Given the description of an element on the screen output the (x, y) to click on. 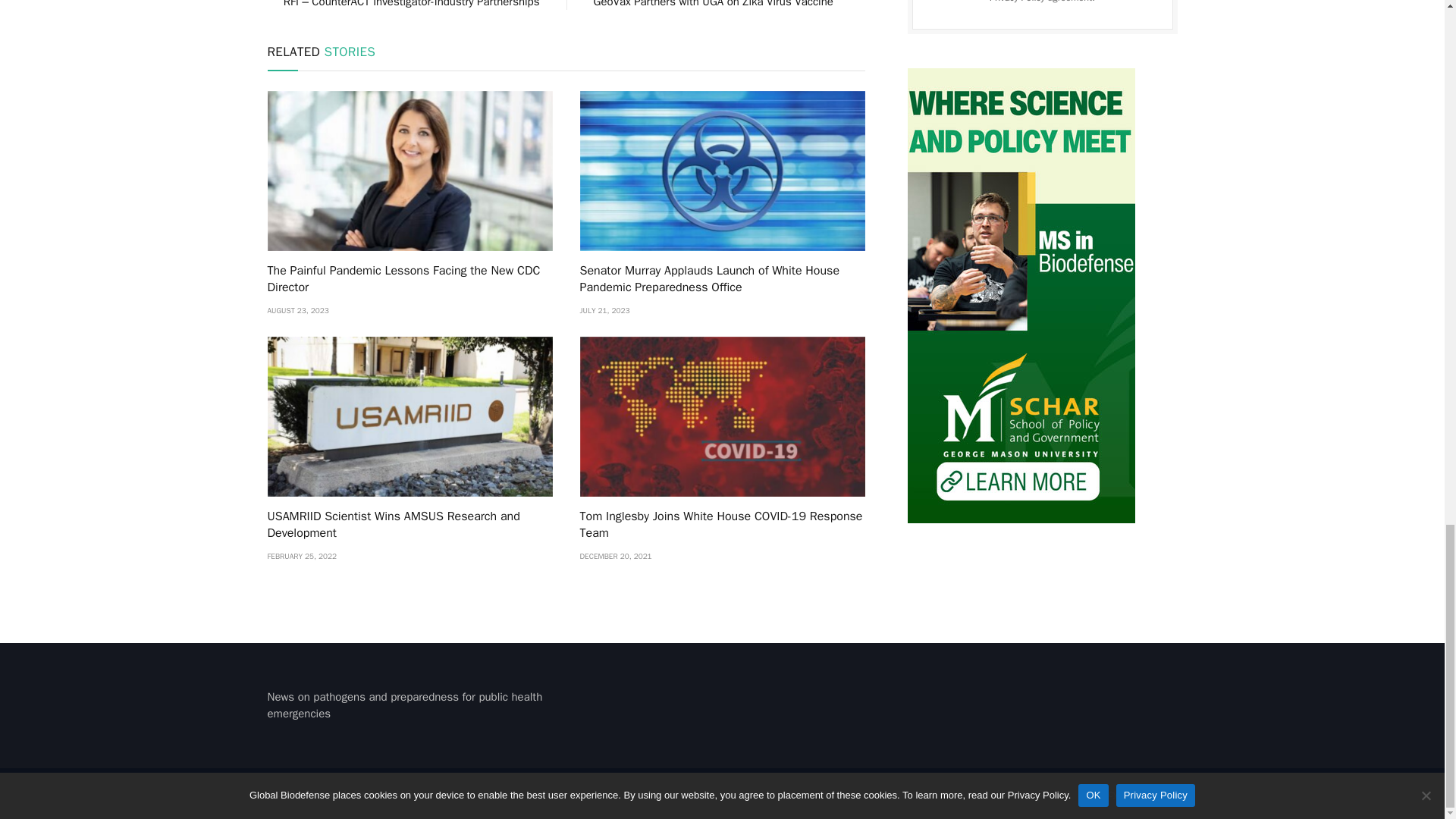
GeoVax Partners with UGA on Zika Virus Vaccine (712, 4)
The Painful Pandemic Lessons Facing the New CDC Director (408, 279)
